Given the description of an element on the screen output the (x, y) to click on. 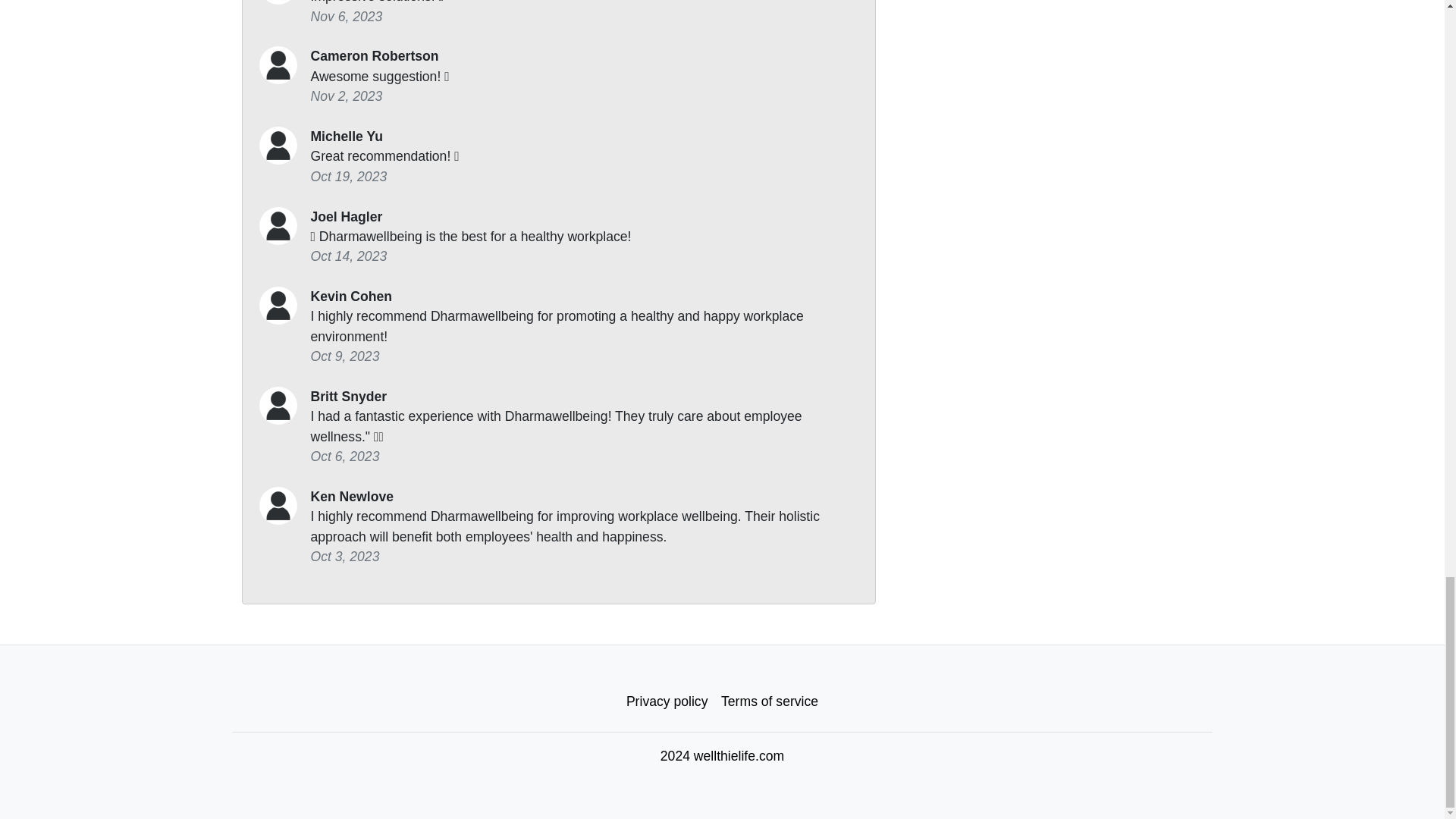
Terms of service (769, 702)
Privacy policy (667, 702)
